Given the description of an element on the screen output the (x, y) to click on. 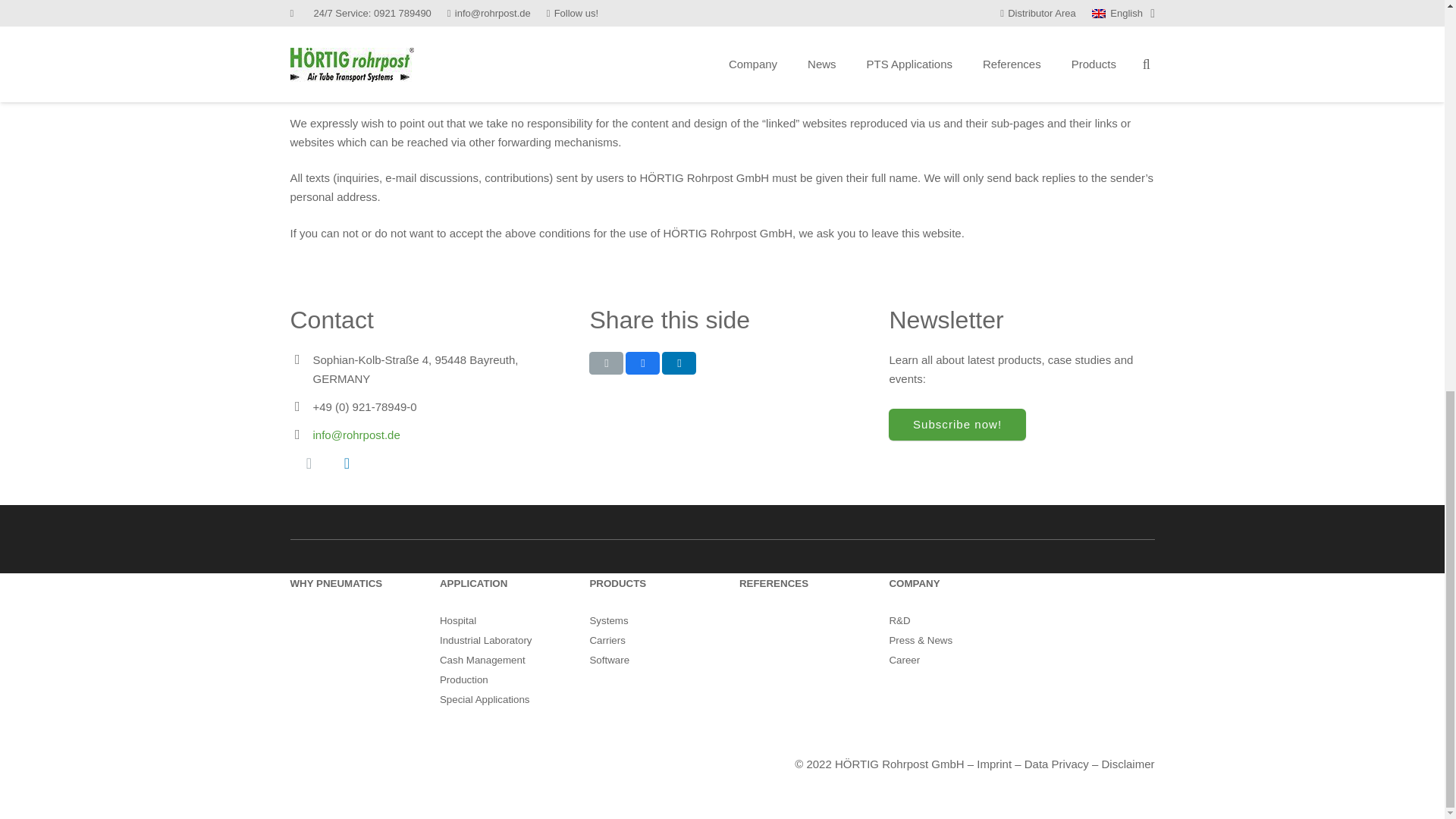
Back to top (1413, 98)
Share this (642, 363)
Email (308, 463)
Email this (606, 363)
Share this (678, 363)
LinkedIn (346, 463)
